Given the description of an element on the screen output the (x, y) to click on. 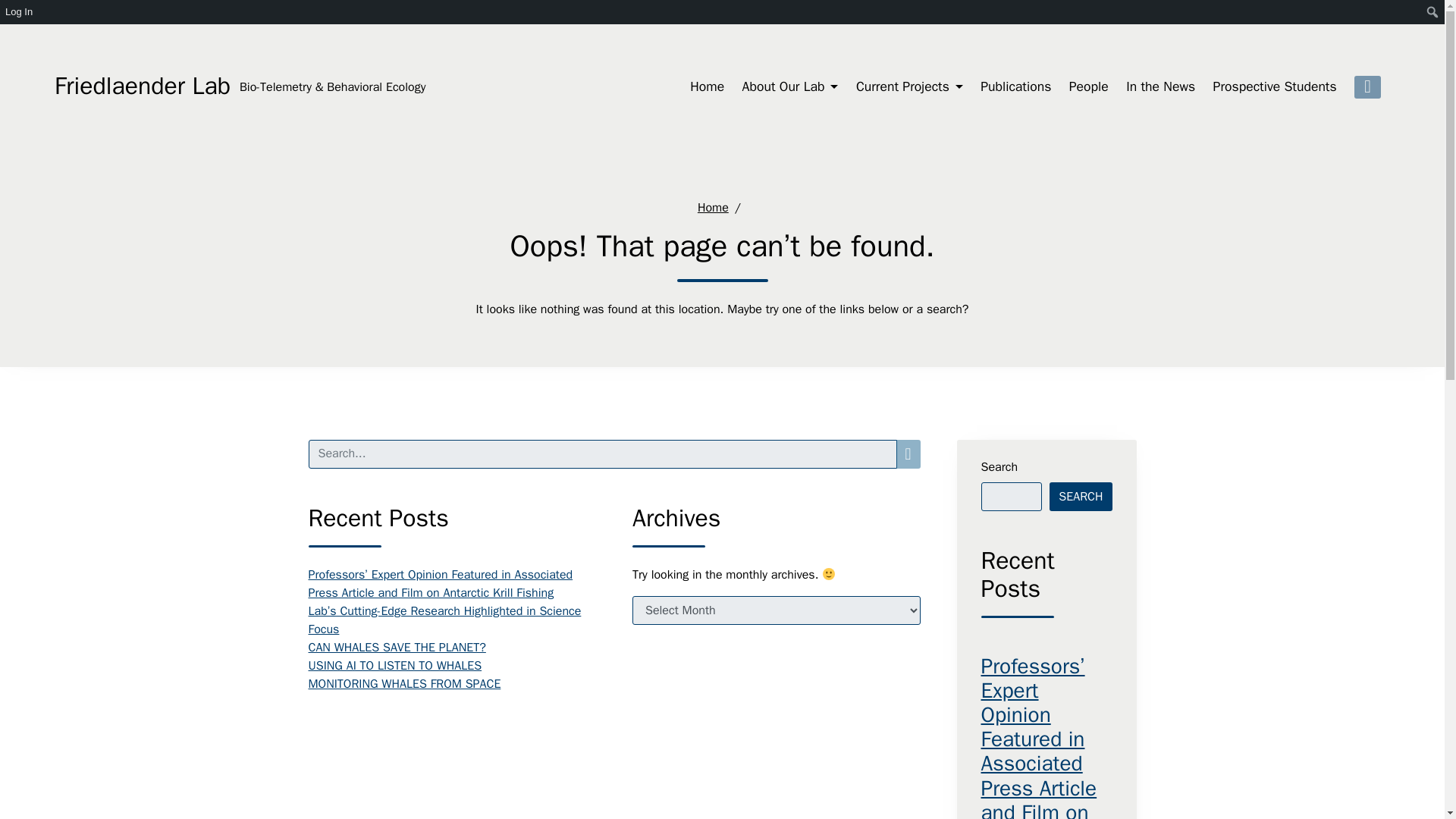
SEARCH (1080, 496)
People (1088, 86)
Publications (1015, 86)
People (1088, 86)
Home (713, 207)
Friedlaender Lab (332, 86)
About Our Lab (790, 86)
USING AI TO LISTEN TO WHALES (394, 665)
Home (706, 86)
CAN WHALES SAVE THE PLANET? (395, 647)
